Given the description of an element on the screen output the (x, y) to click on. 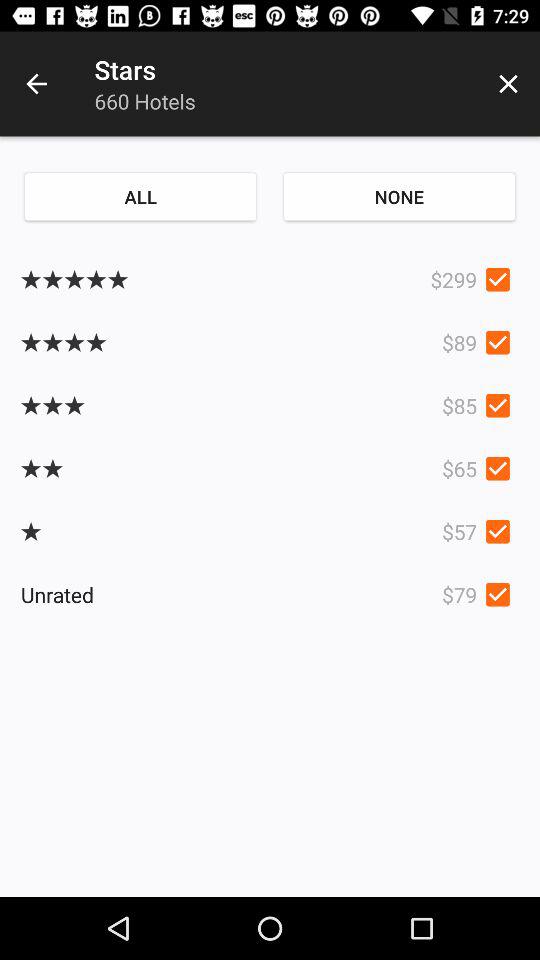
press item next to the stars (36, 83)
